Given the description of an element on the screen output the (x, y) to click on. 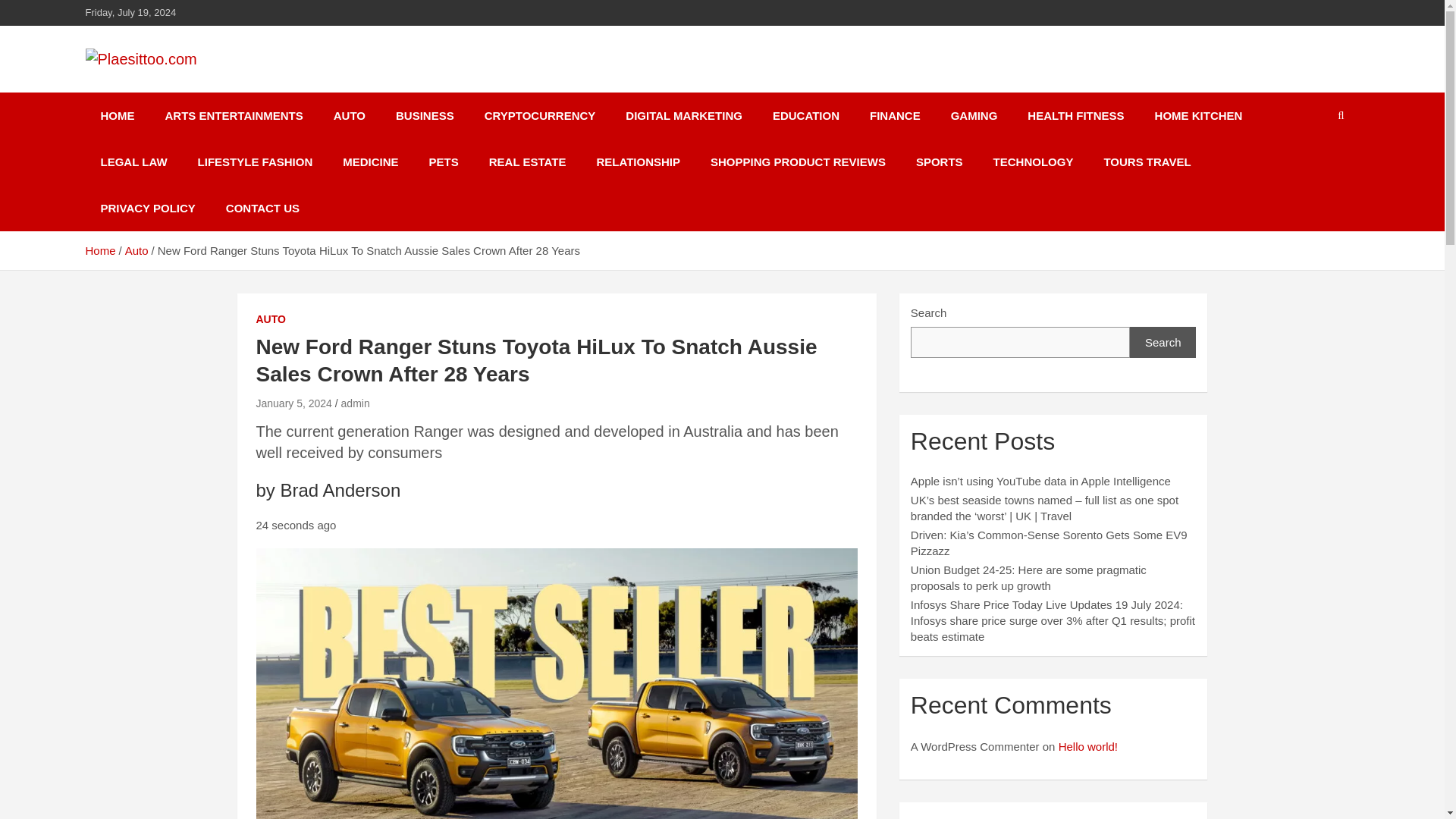
MEDICINE (370, 161)
REAL ESTATE (527, 161)
CRYPTOCURRENCY (539, 115)
AUTO (270, 319)
GAMING (974, 115)
admin (354, 403)
Auto (136, 250)
FINANCE (895, 115)
PETS (443, 161)
BUSINESS (424, 115)
LIFESTYLE FASHION (256, 161)
HEALTH FITNESS (1074, 115)
LEGAL LAW (133, 161)
Plaesittoo.com (192, 89)
